Given the description of an element on the screen output the (x, y) to click on. 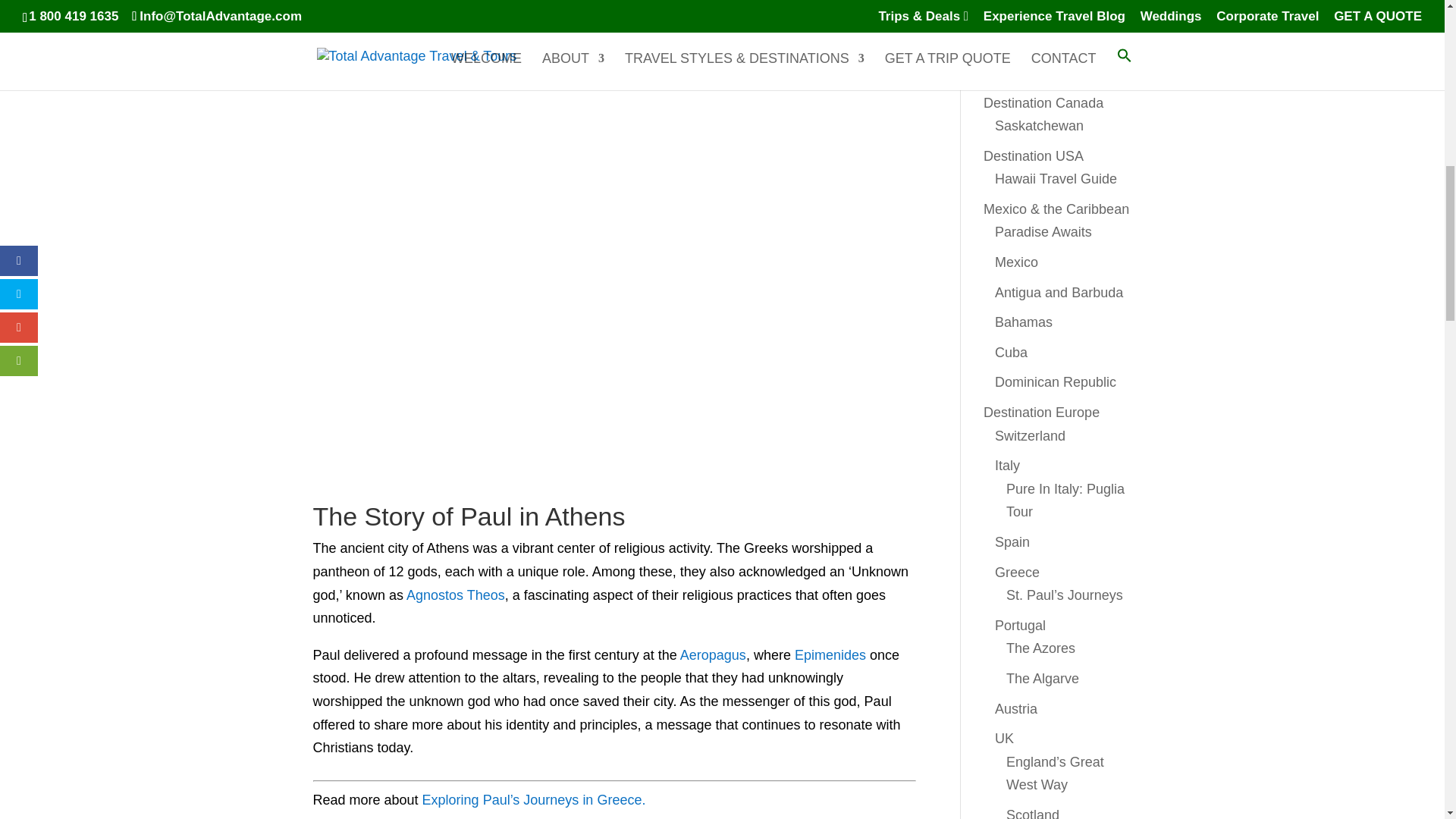
Epimenides (830, 654)
Aeropagus (712, 654)
Agnostos Theos (455, 595)
